Given the description of an element on the screen output the (x, y) to click on. 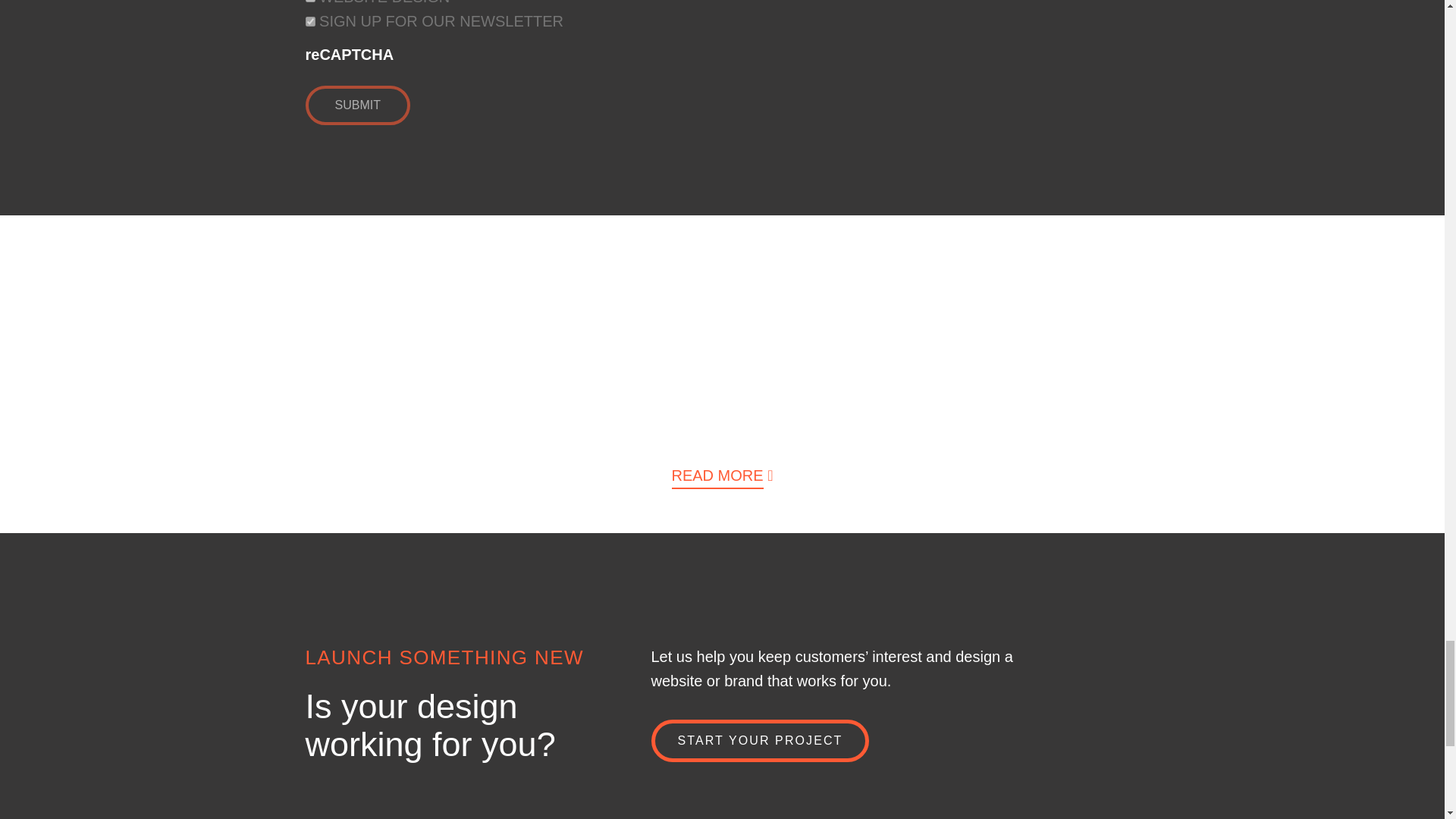
Submit (356, 105)
Submit (356, 105)
READ MORE (716, 477)
SIGN UP FOR OUR NEWSLETTER (309, 21)
